Given the description of an element on the screen output the (x, y) to click on. 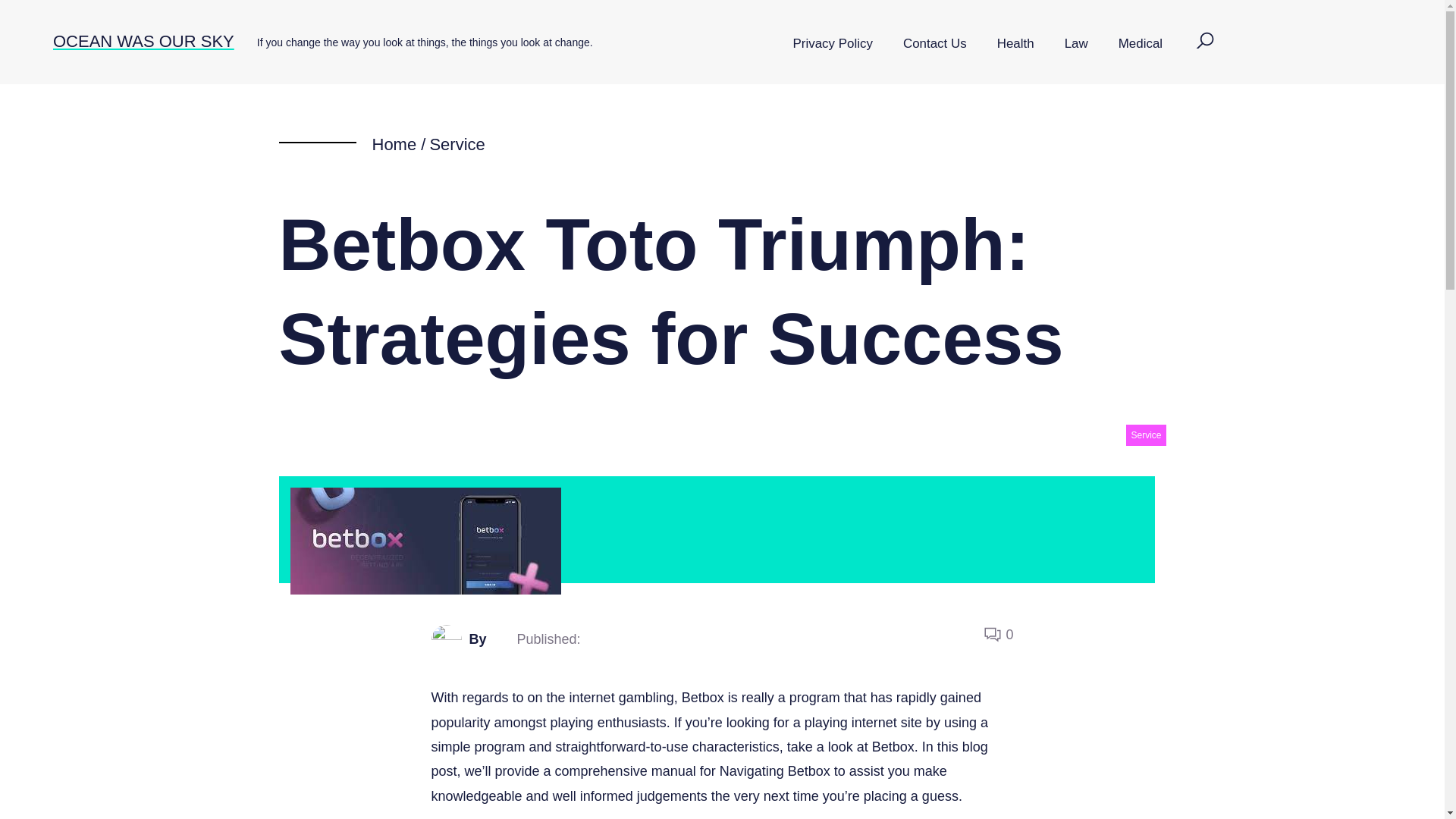
Home (393, 144)
OCEAN WAS OUR SKY (143, 40)
Health (1015, 43)
Privacy Policy (832, 43)
Medical (1140, 43)
Contact Us (934, 43)
Service (1145, 435)
Service (456, 144)
